Given the description of an element on the screen output the (x, y) to click on. 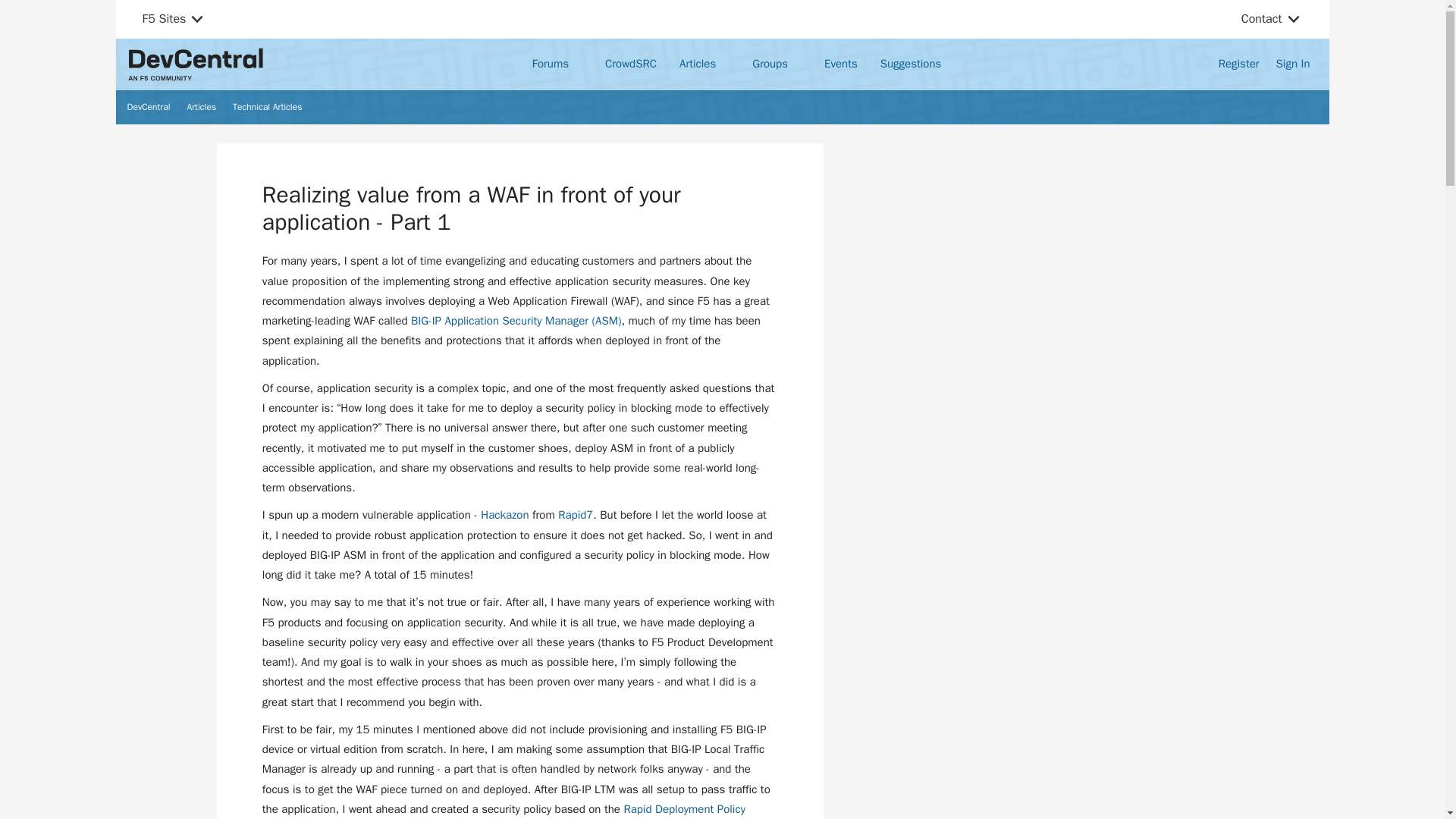
Articles (703, 63)
Rapid7 (574, 514)
Hackazon (504, 514)
Articles (201, 107)
Groups (776, 63)
Forums (556, 63)
Events (840, 63)
Rapid Deployment Policy (684, 808)
Suggestions (910, 63)
Technical Articles (266, 107)
